Given the description of an element on the screen output the (x, y) to click on. 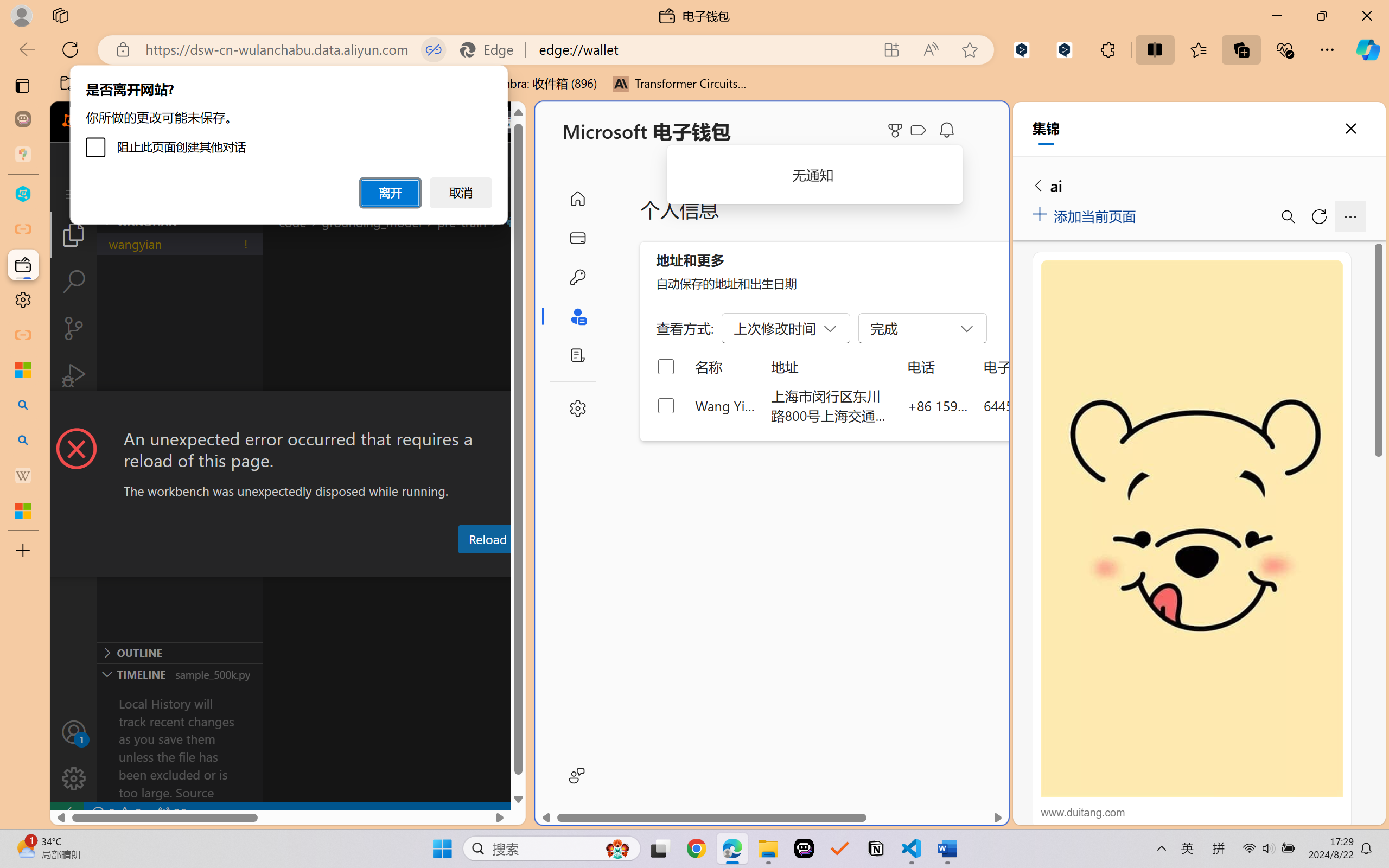
Terminal (Ctrl+`) (553, 565)
remote (66, 812)
Run and Debug (Ctrl+Shift+D) (73, 375)
